Given the description of an element on the screen output the (x, y) to click on. 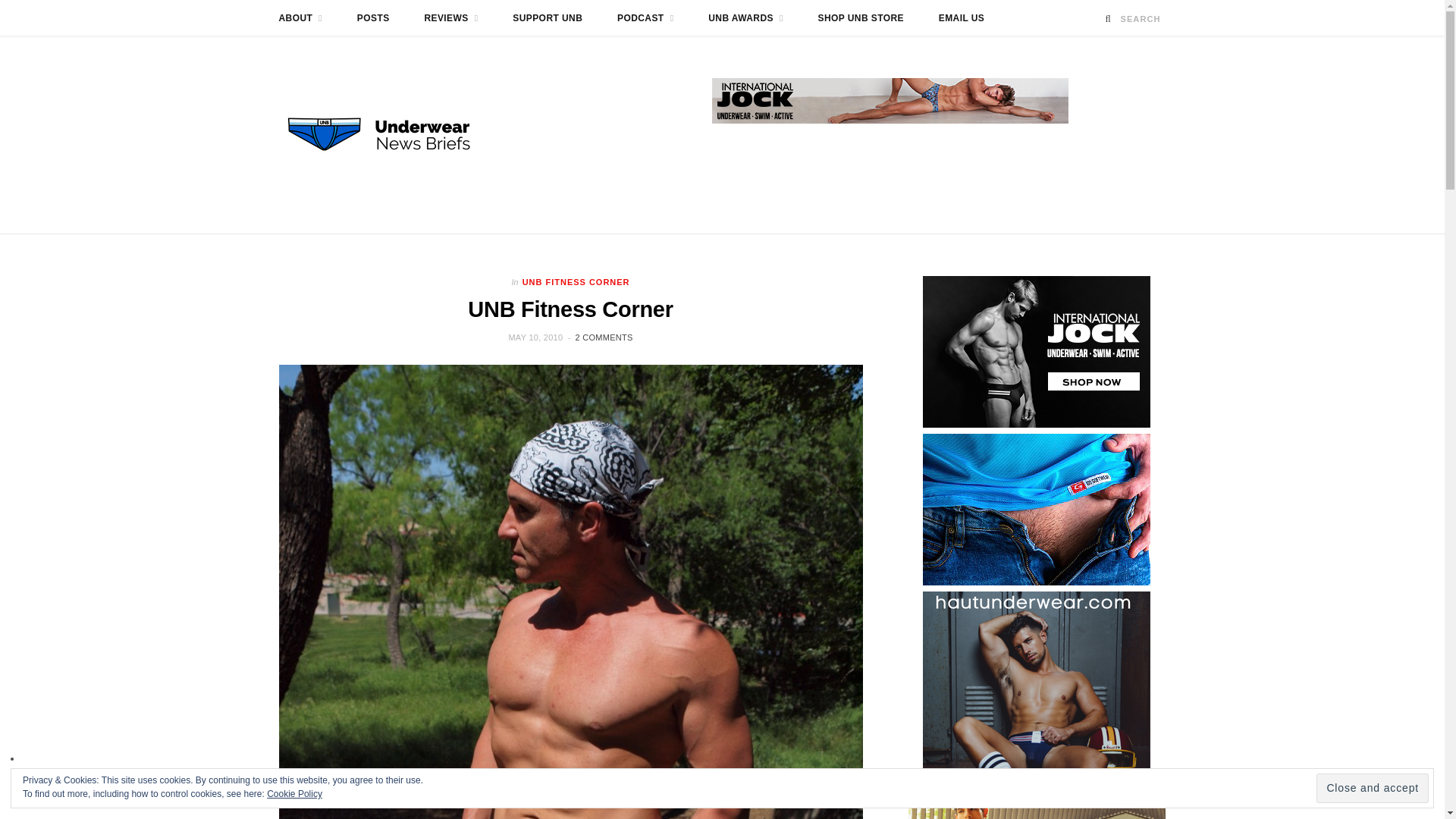
PODCAST (644, 18)
Underwear News Briefs (392, 134)
UNB AWARDS (746, 18)
POSTS (373, 18)
REVIEWS (450, 18)
EMAIL US (961, 18)
Close and accept (1372, 788)
SUPPORT UNB (547, 18)
ABOUT (299, 18)
SHOP UNB STORE (861, 18)
